Given the description of an element on the screen output the (x, y) to click on. 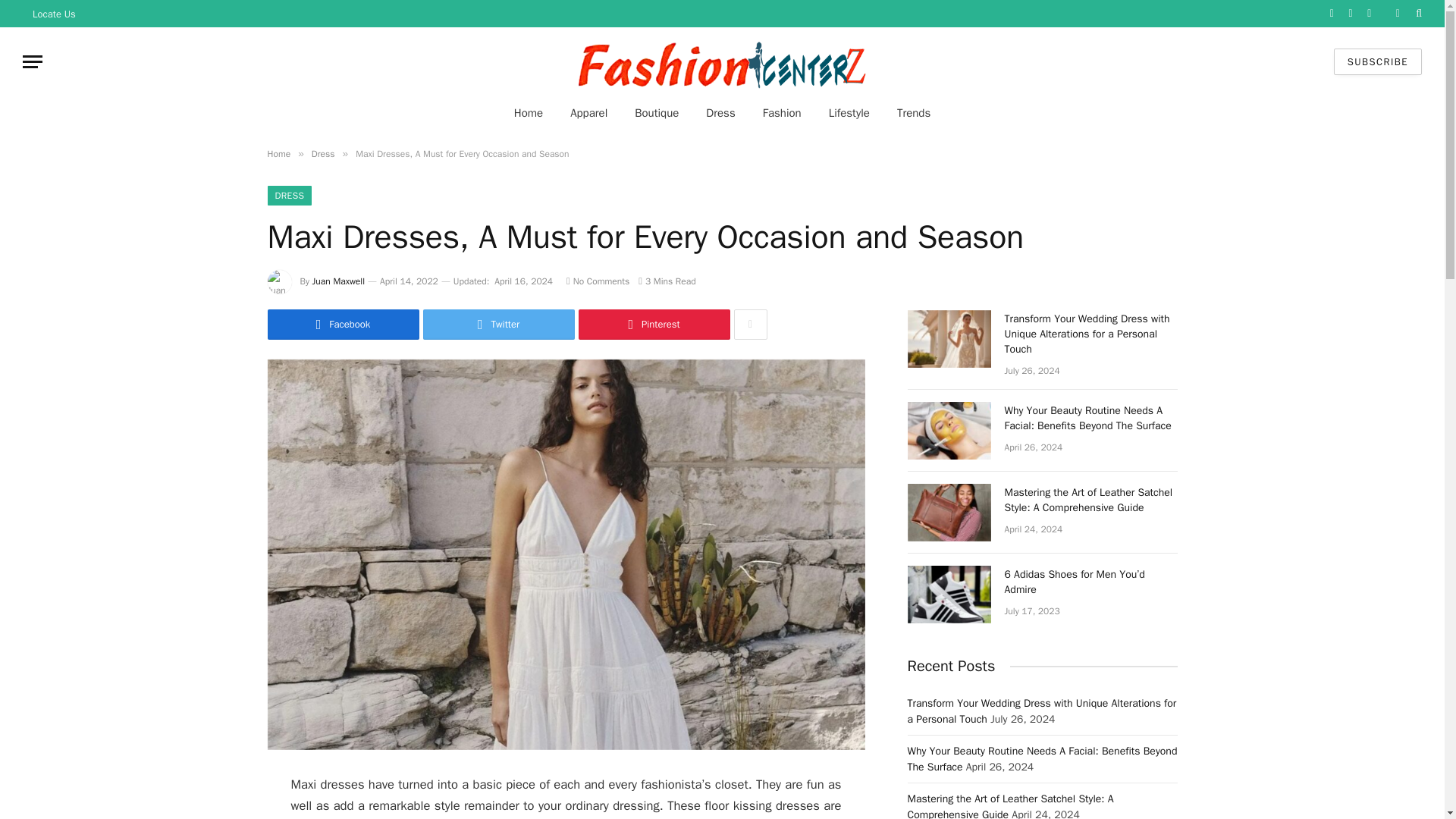
Apparel (588, 112)
Lifestyle (849, 112)
Dress (720, 112)
Posts by Juan Maxwell (339, 281)
Switch to Dark Design - easier on eyes. (1397, 13)
Trends (913, 112)
Boutique (657, 112)
Locate Us (54, 13)
Share on Twitter (499, 324)
Fashion (782, 112)
